Given the description of an element on the screen output the (x, y) to click on. 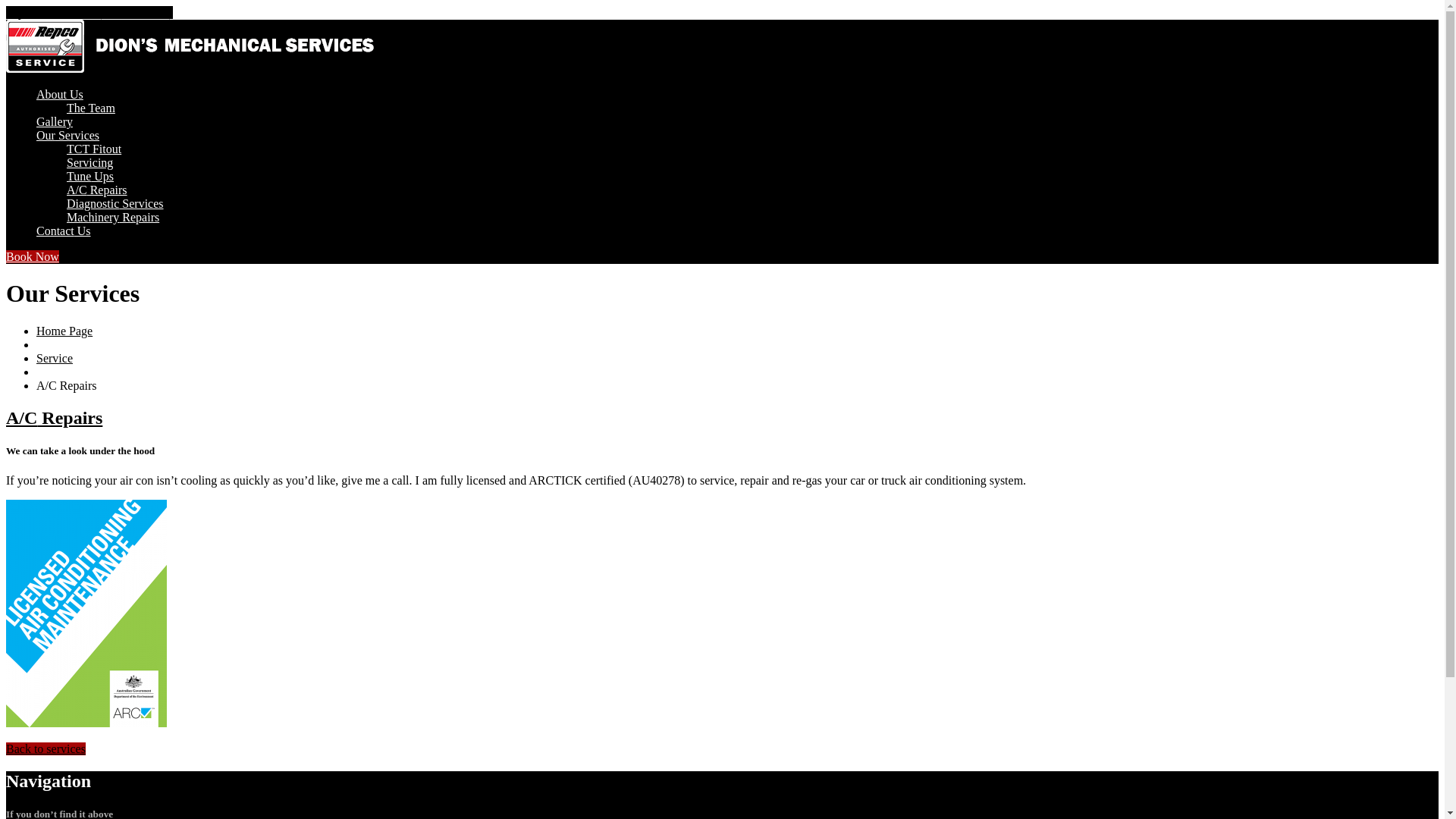
Tap here to call us (07 4922 6301) Element type: text (89, 12)
Contact Us Element type: text (63, 230)
Our Services Element type: text (67, 134)
A/C Repairs Element type: text (96, 189)
Servicing Element type: text (89, 162)
Service Element type: text (54, 357)
A/C Repairs Element type: text (54, 417)
About Us Element type: text (59, 93)
Back to services Element type: text (45, 748)
Machinery Repairs Element type: text (112, 216)
Book Now Element type: text (32, 256)
Gallery Element type: text (54, 121)
TCT Fitout Element type: text (93, 148)
Tune Ups Element type: text (89, 175)
The Team Element type: text (90, 107)
Diagnostic Services Element type: text (114, 203)
Home Page Element type: text (64, 330)
